Given the description of an element on the screen output the (x, y) to click on. 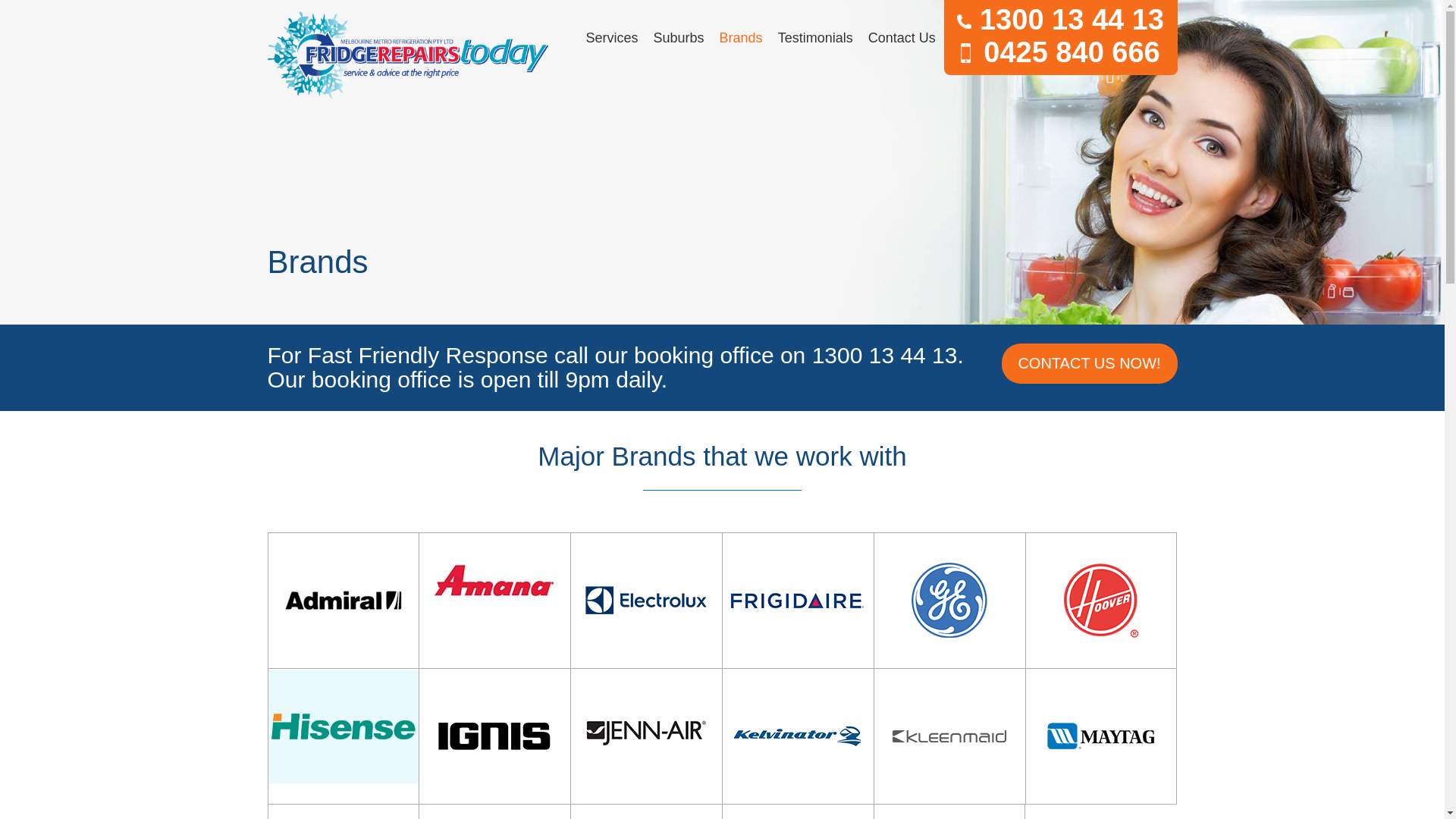
Testimonials Element type: text (815, 38)
Brands Element type: text (741, 38)
Suburbs Element type: text (679, 38)
CONTACT US NOW! Element type: text (1088, 363)
Services Element type: text (611, 38)
0425 840 666 Element type: text (1059, 52)
1300 13 44 13 Element type: text (1060, 19)
Fridge Repairs Today Element type: hover (406, 54)
Contact Us Element type: text (901, 38)
